Given the description of an element on the screen output the (x, y) to click on. 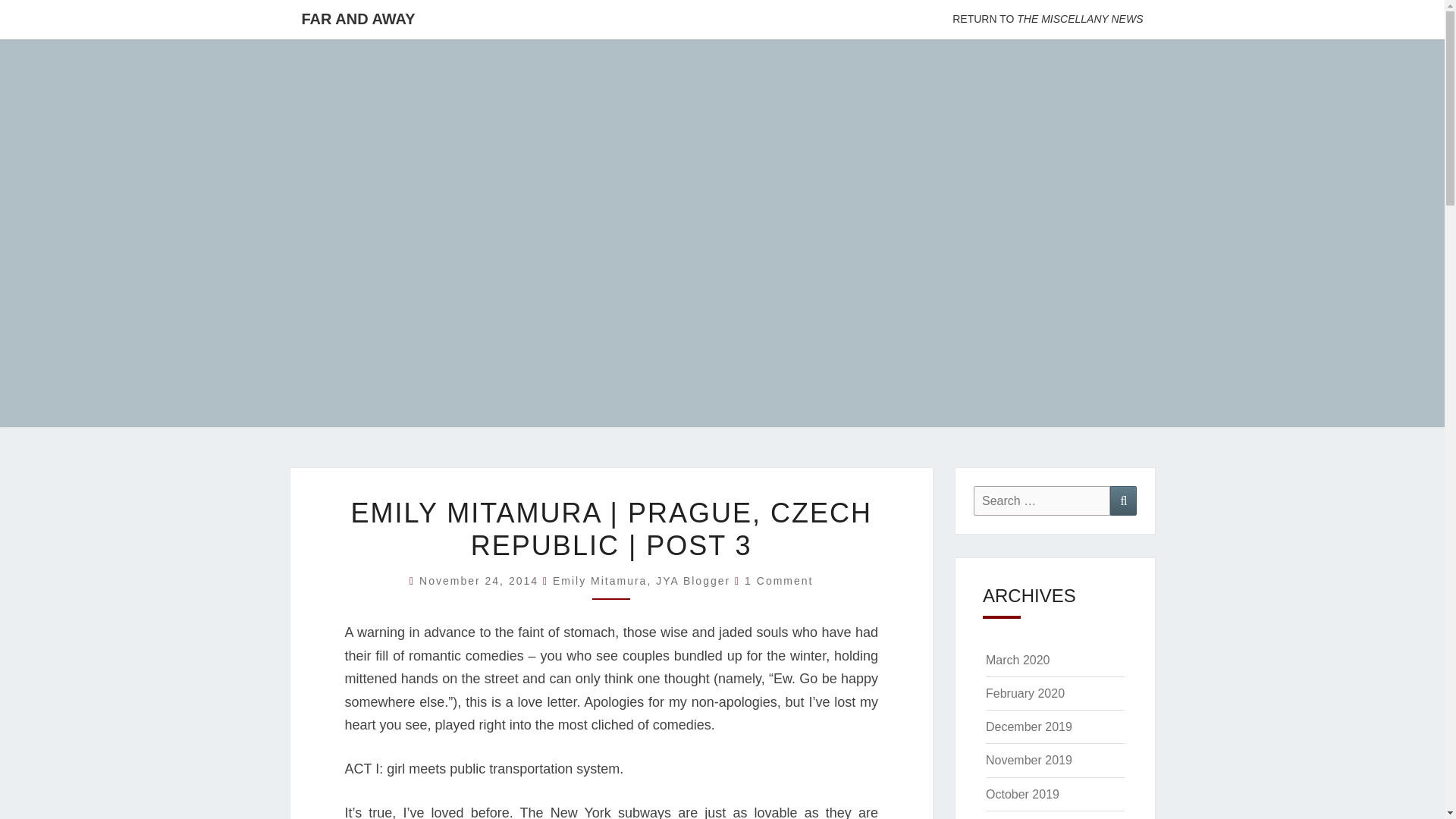
March 2020 (1017, 659)
February 2020 (1024, 693)
Search (1123, 500)
1 Comment (778, 580)
November 2019 (1028, 759)
Emily Mitamura, JYA Blogger (641, 580)
RETURN TO THE MISCELLANY NEWS (1047, 19)
5:00 am (481, 580)
December 2019 (1028, 726)
October 2019 (1022, 793)
November 24, 2014 (481, 580)
FAR AND AWAY (357, 18)
Search for: (1041, 500)
View all posts by Emily Mitamura, JYA Blogger (641, 580)
